Given the description of an element on the screen output the (x, y) to click on. 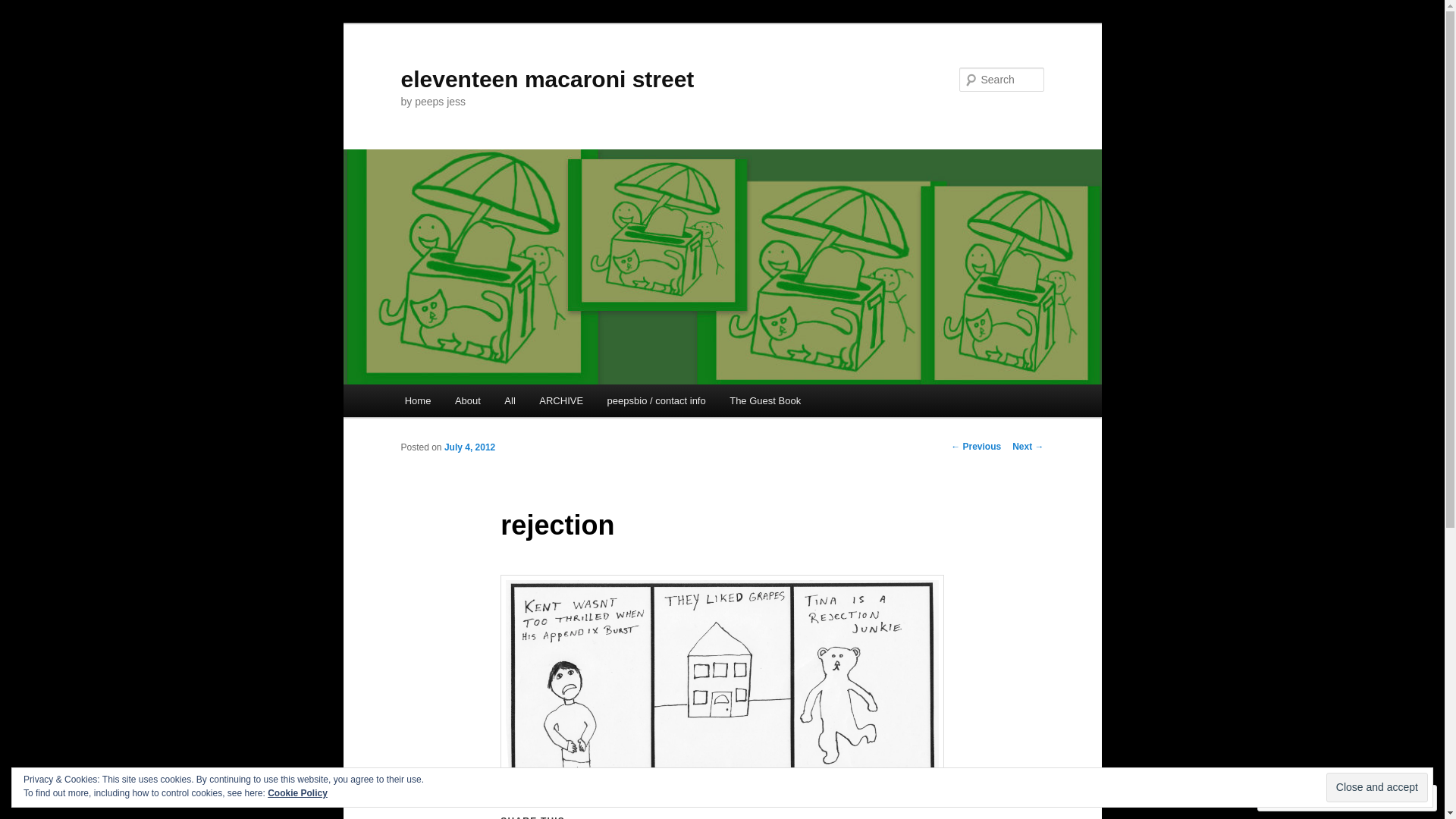
Home Element type: text (417, 400)
eleventeen macaroni street Element type: text (546, 78)
The Guest Book Element type: text (764, 400)
Skip to primary content Element type: text (22, 22)
ARCHIVE Element type: text (561, 400)
kent Element type: hover (721, 677)
About Element type: text (467, 400)
Cookie Policy Element type: text (297, 792)
Follow Element type: text (1373, 797)
Search Element type: text (24, 8)
Comment Element type: text (1298, 797)
July 4, 2012 Element type: text (469, 447)
Close and accept Element type: text (1376, 787)
All Element type: text (509, 400)
peepsbio / contact info Element type: text (656, 400)
